Given the description of an element on the screen output the (x, y) to click on. 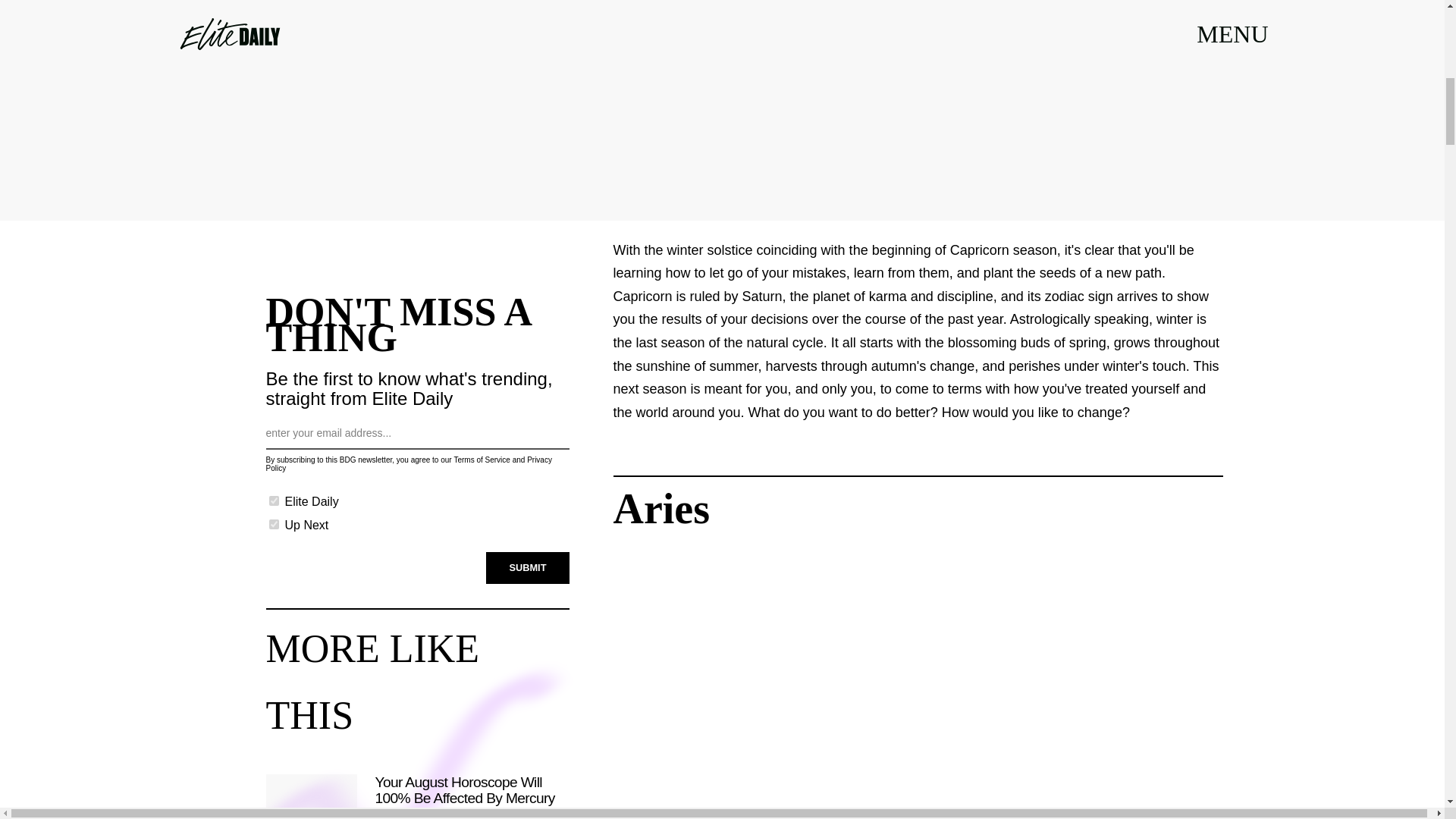
SUBMIT (527, 567)
Terms of Service (480, 459)
Privacy Policy (407, 463)
